Given the description of an element on the screen output the (x, y) to click on. 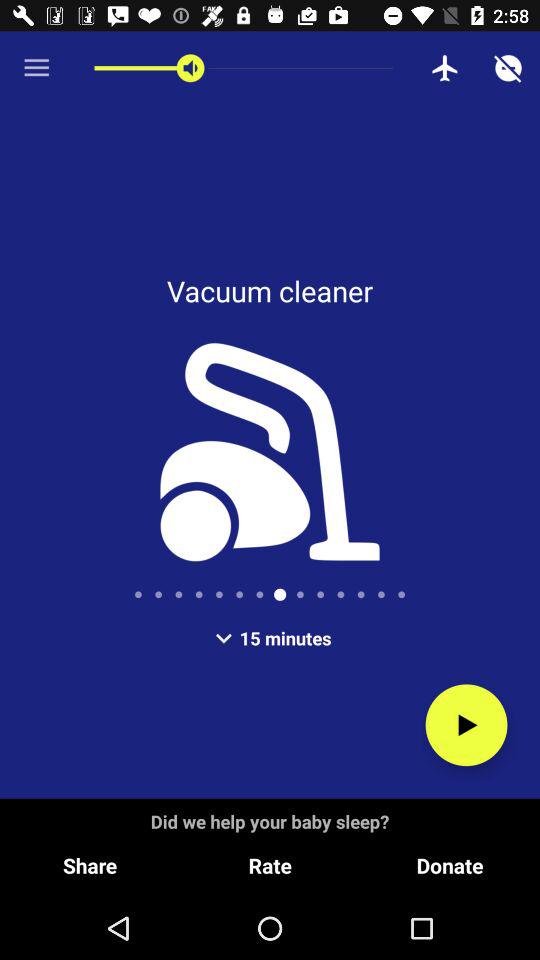
paly button (466, 725)
